Given the description of an element on the screen output the (x, y) to click on. 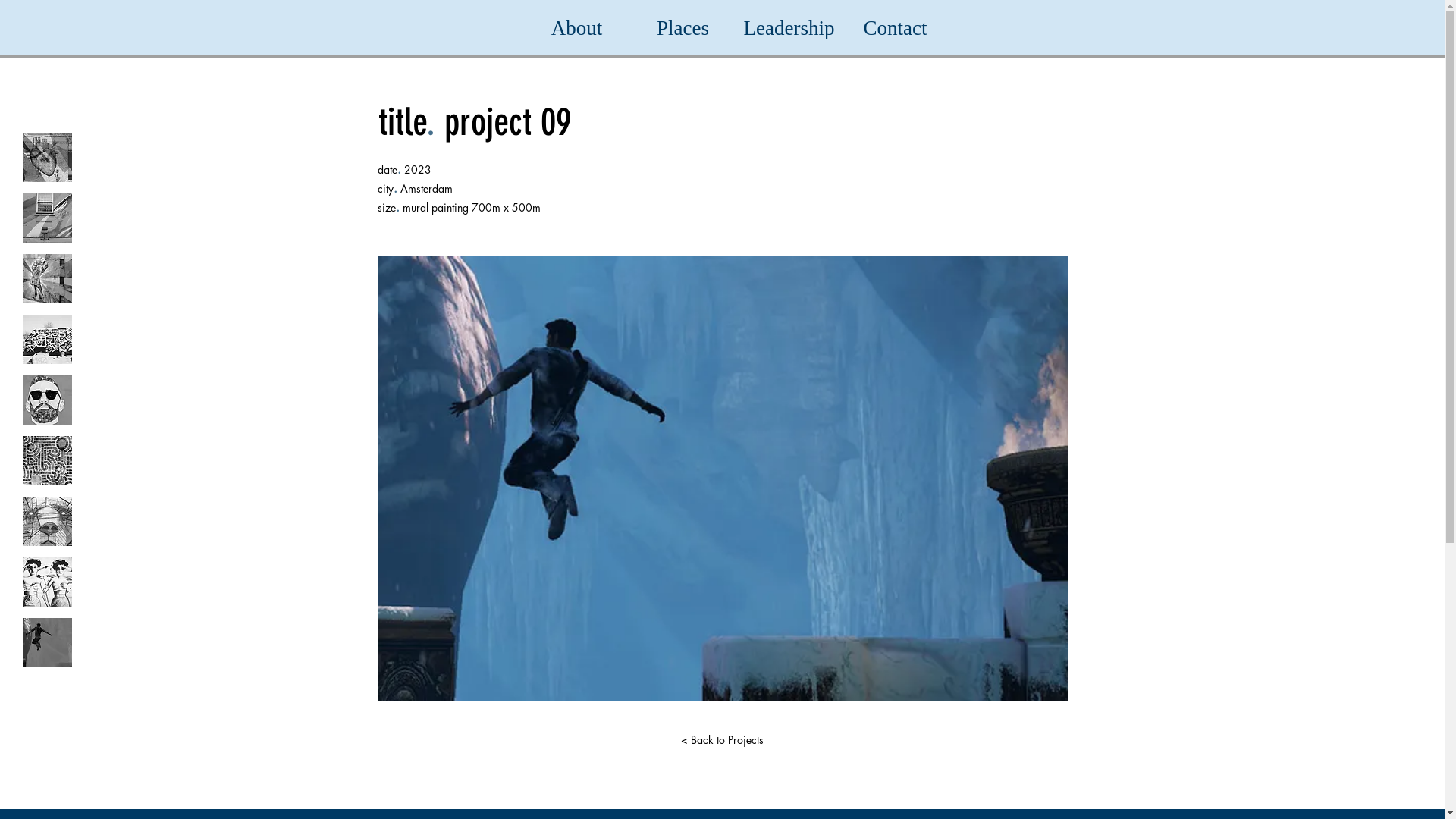
Places Element type: text (682, 28)
< Back to Projects Element type: text (722, 739)
Contact Element type: text (894, 28)
Leadership Element type: text (788, 28)
